Given the description of an element on the screen output the (x, y) to click on. 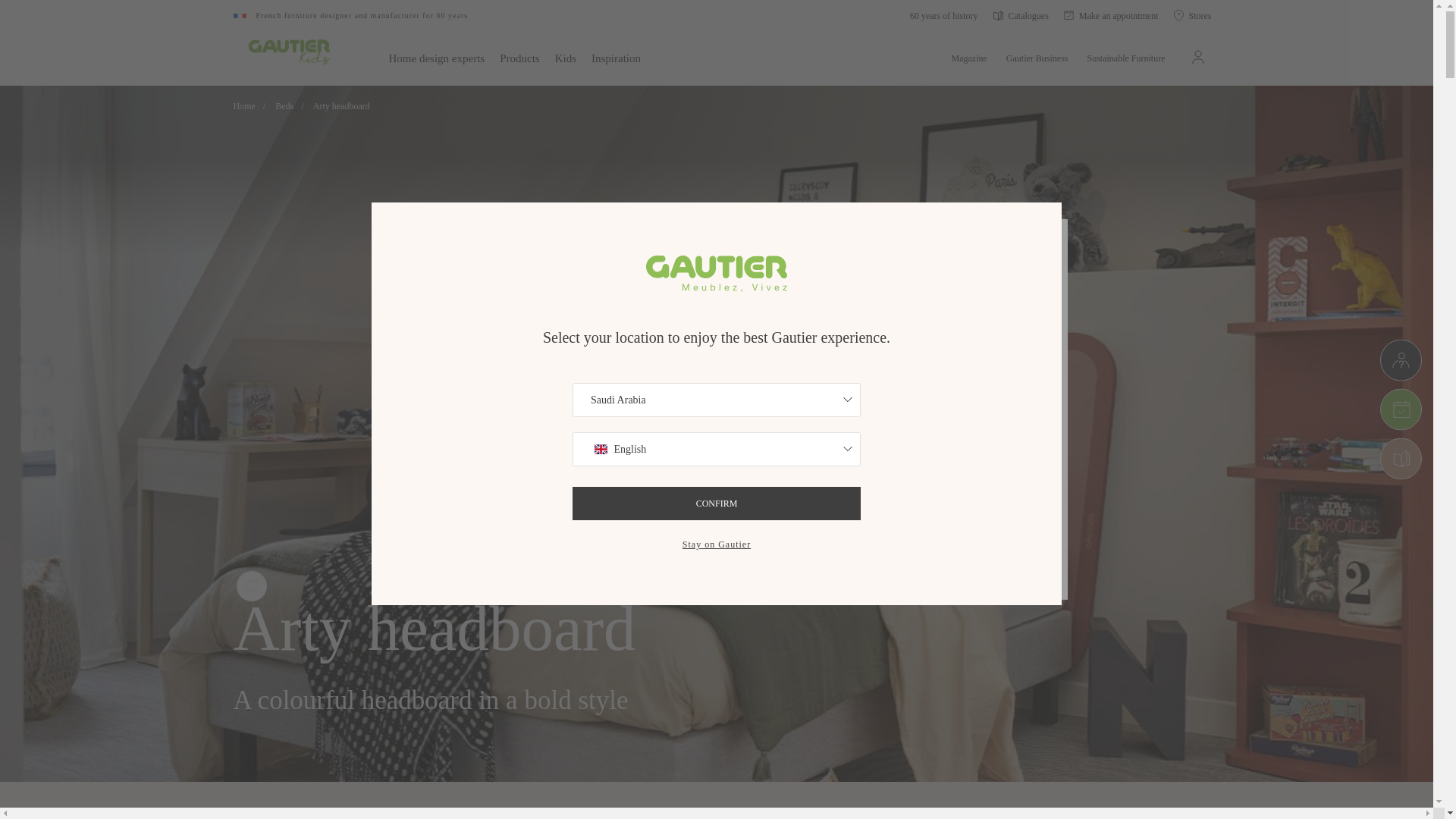
Make an appointment (1111, 15)
Sustainable Furniture (1126, 56)
Account (1198, 55)
Catalogues (1020, 15)
Stores (1192, 15)
Home design experts (436, 56)
Add to wishlist (251, 586)
Gautier Business (1037, 56)
Gautier - Furniture for life (291, 51)
